Given the description of an element on the screen output the (x, y) to click on. 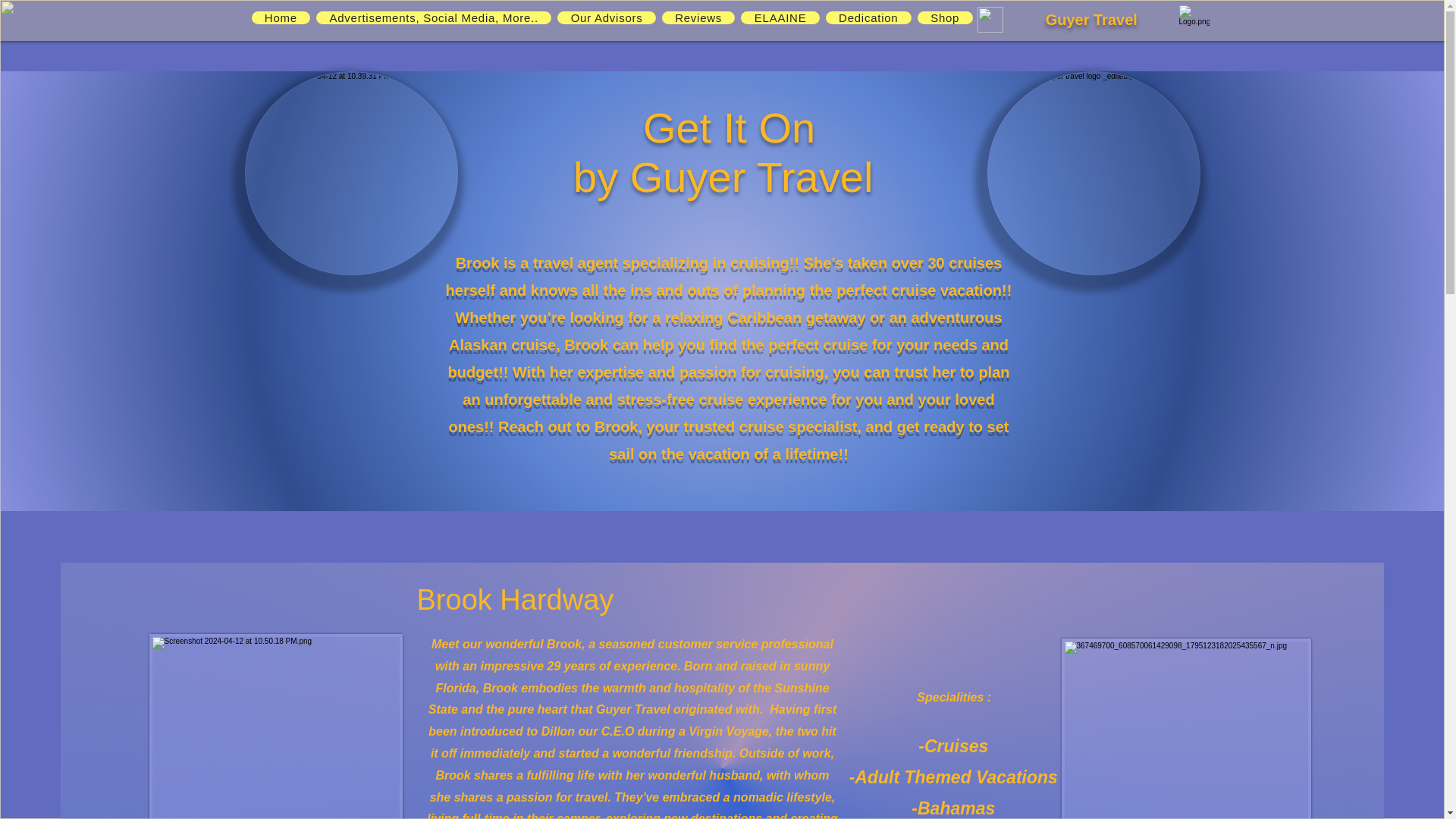
Home (281, 17)
Advertisements, Social Media, More.. (433, 17)
ELAAINE (779, 17)
Reviews (698, 17)
Dedication (868, 17)
Shop (944, 17)
